Given the description of an element on the screen output the (x, y) to click on. 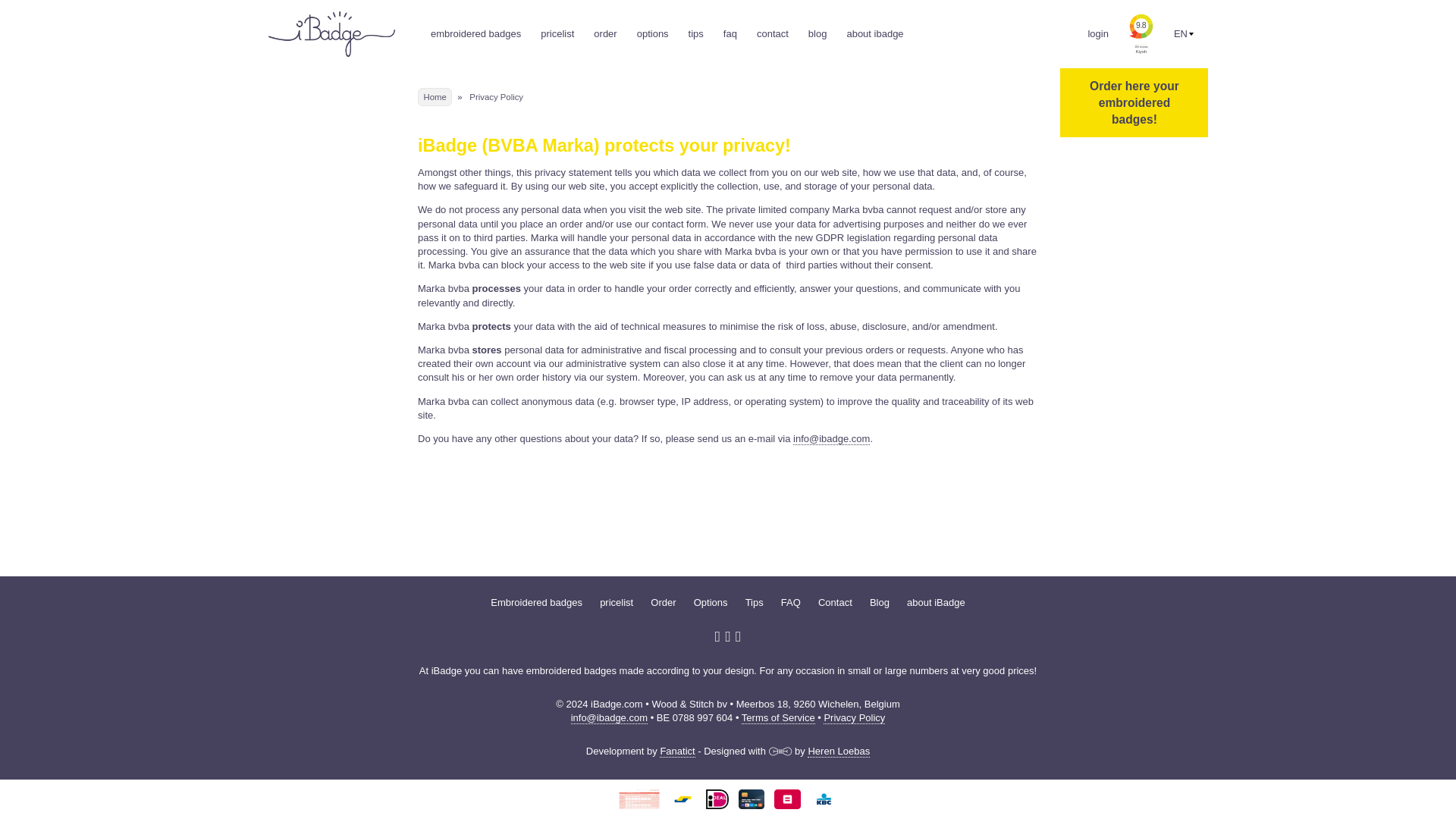
Order (662, 602)
Blog (879, 602)
login (1097, 33)
Home (434, 96)
embroidered badges (476, 33)
Tips (753, 602)
Contact (834, 602)
Fanatict (676, 751)
Terms of Service (778, 717)
